Given the description of an element on the screen output the (x, y) to click on. 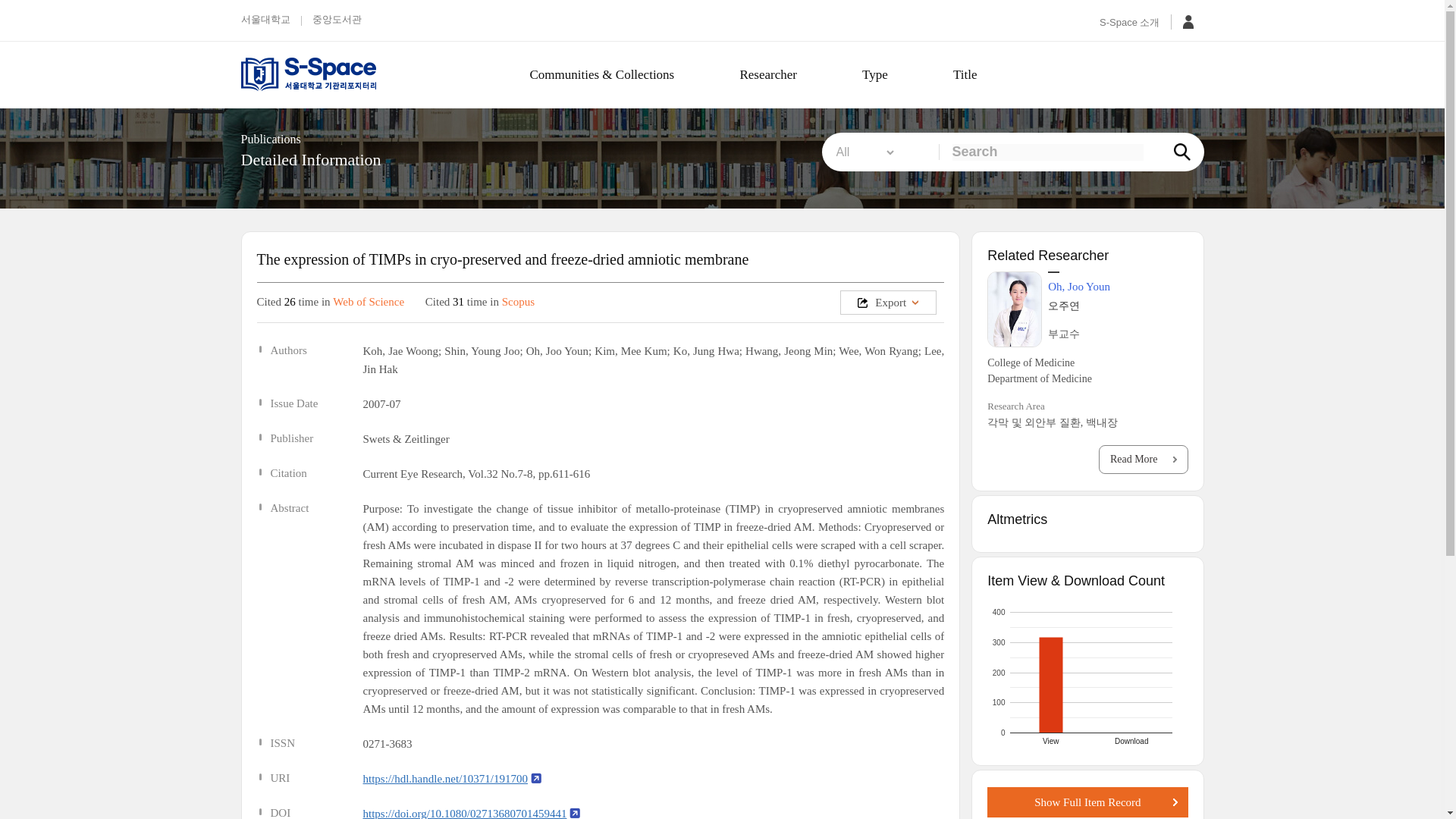
Export (888, 302)
Read More (1143, 459)
Type (874, 74)
My S-Space (1188, 22)
Oh, Joo Youn (556, 350)
Researcher (1087, 672)
Show Full Item Record (767, 74)
S-Space (1087, 802)
Search (334, 74)
Title (1047, 152)
